Given the description of an element on the screen output the (x, y) to click on. 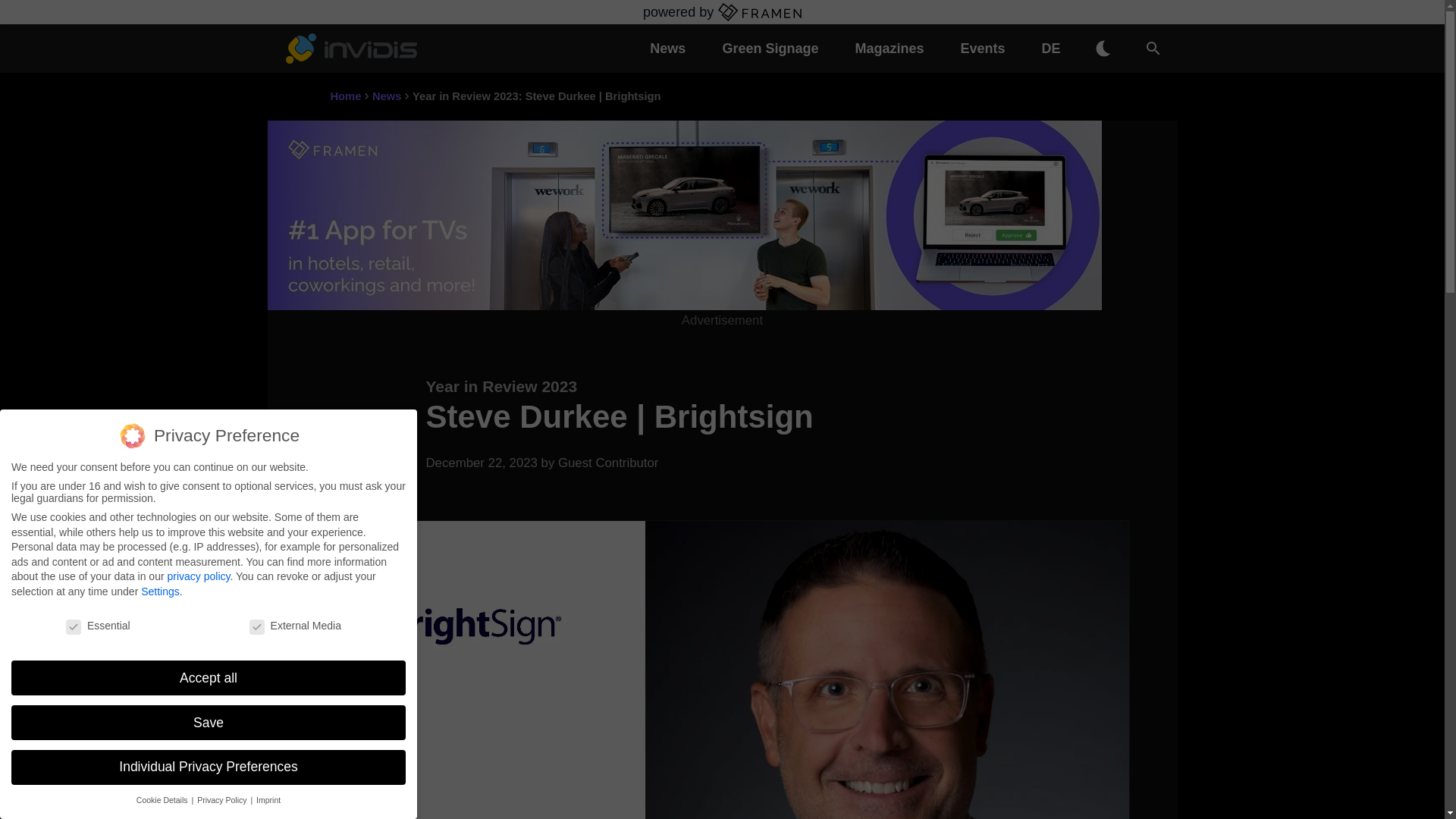
Events (982, 48)
Accept all (208, 677)
Our next events (982, 48)
Individual Privacy Preferences (208, 767)
Green Signage (769, 48)
FRAMEN GmbH - Teil der Axel Springer SE (759, 12)
privacy policy (198, 576)
Imprint (268, 799)
Green signage news (769, 48)
Download digital invidis magazines (888, 48)
